Given the description of an element on the screen output the (x, y) to click on. 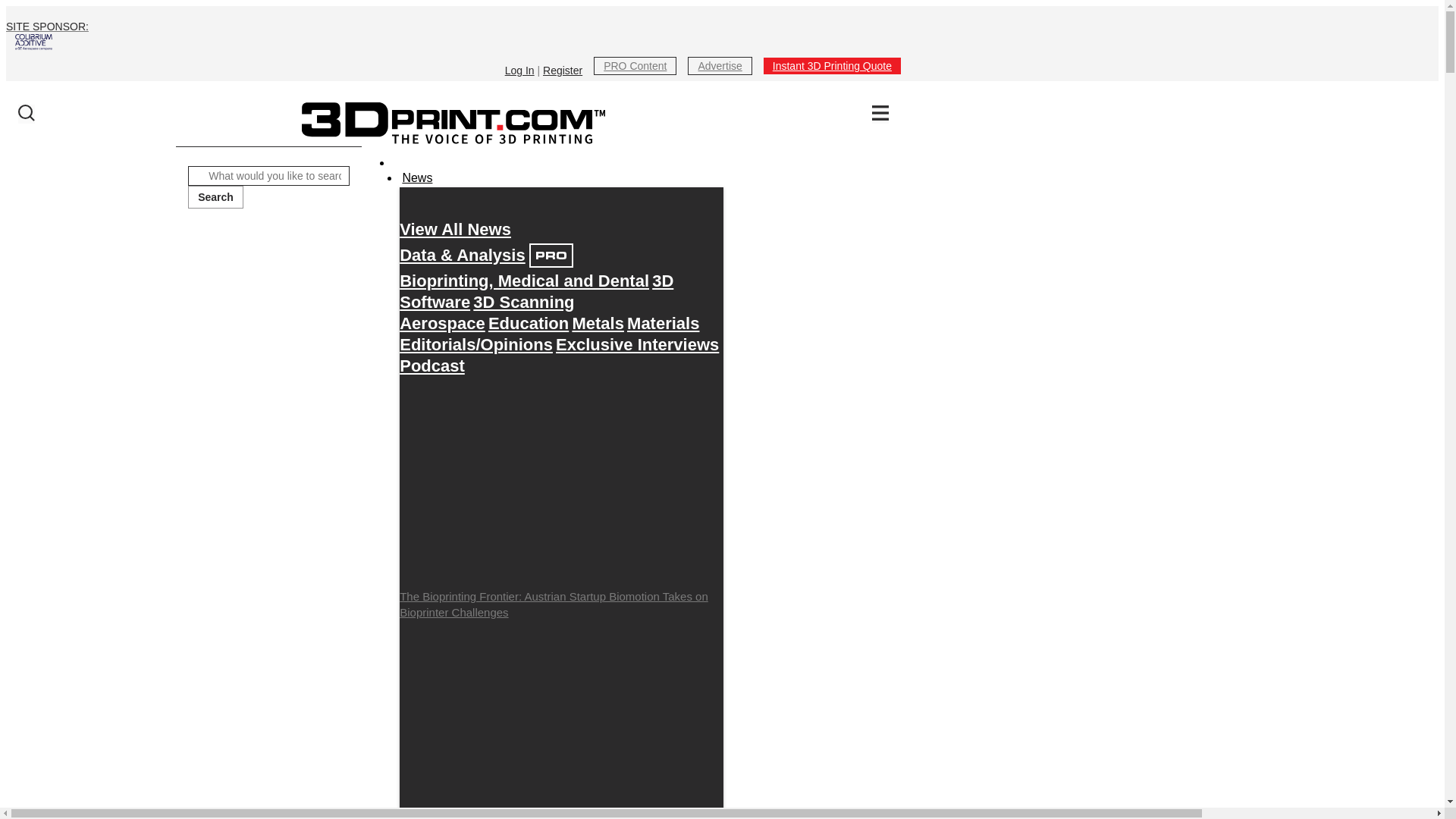
Podcast (431, 365)
3D Software (535, 291)
Aerospace (441, 323)
Instant 3D Printing Quote (831, 65)
Register (562, 70)
Log In (519, 70)
Search (215, 196)
Metals (597, 323)
Education (528, 323)
